Given the description of an element on the screen output the (x, y) to click on. 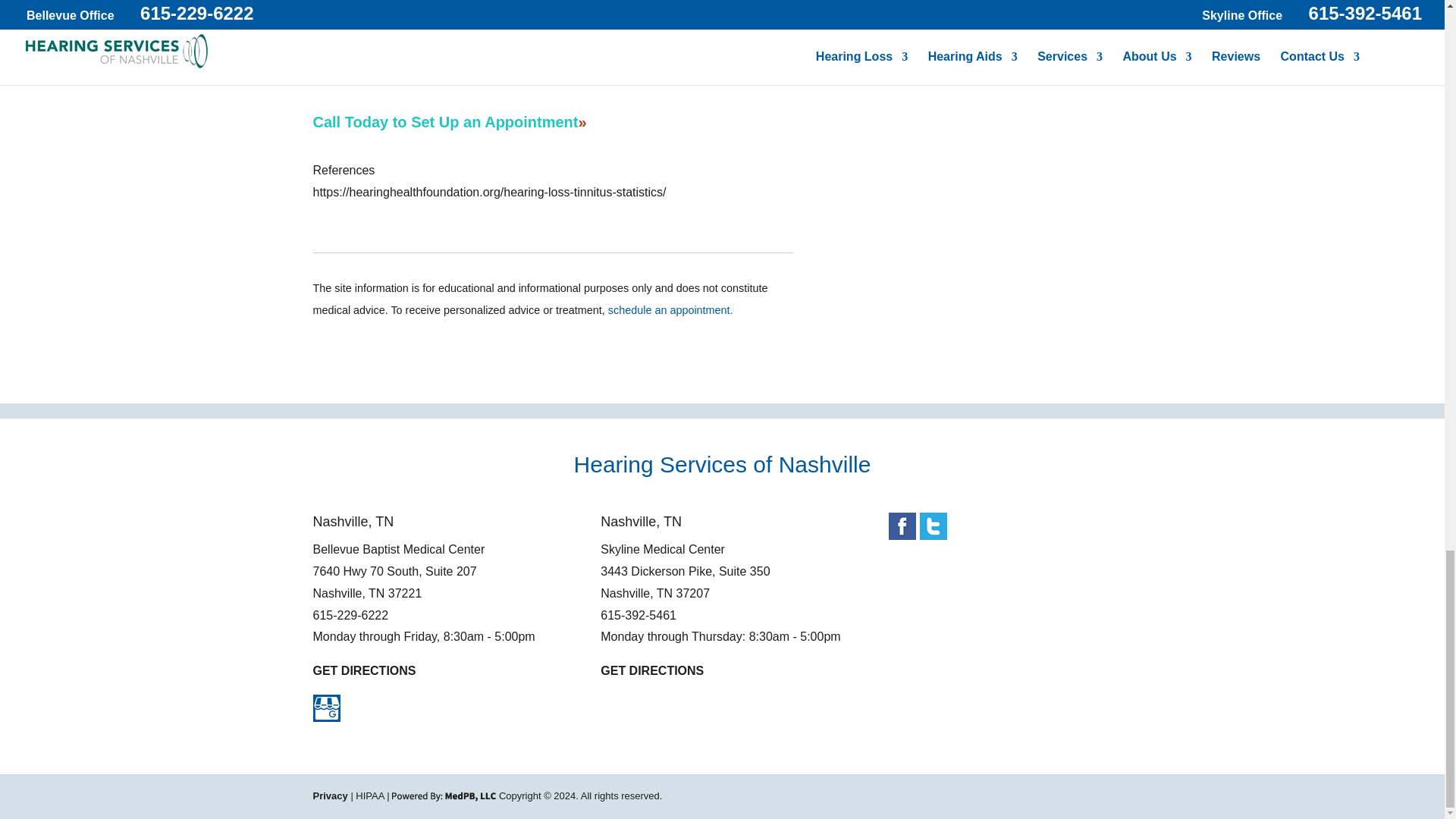
MedPB: Medical Practice Building, Marketing, Websites (443, 795)
Hearing Services of Nashville (722, 468)
